Given the description of an element on the screen output the (x, y) to click on. 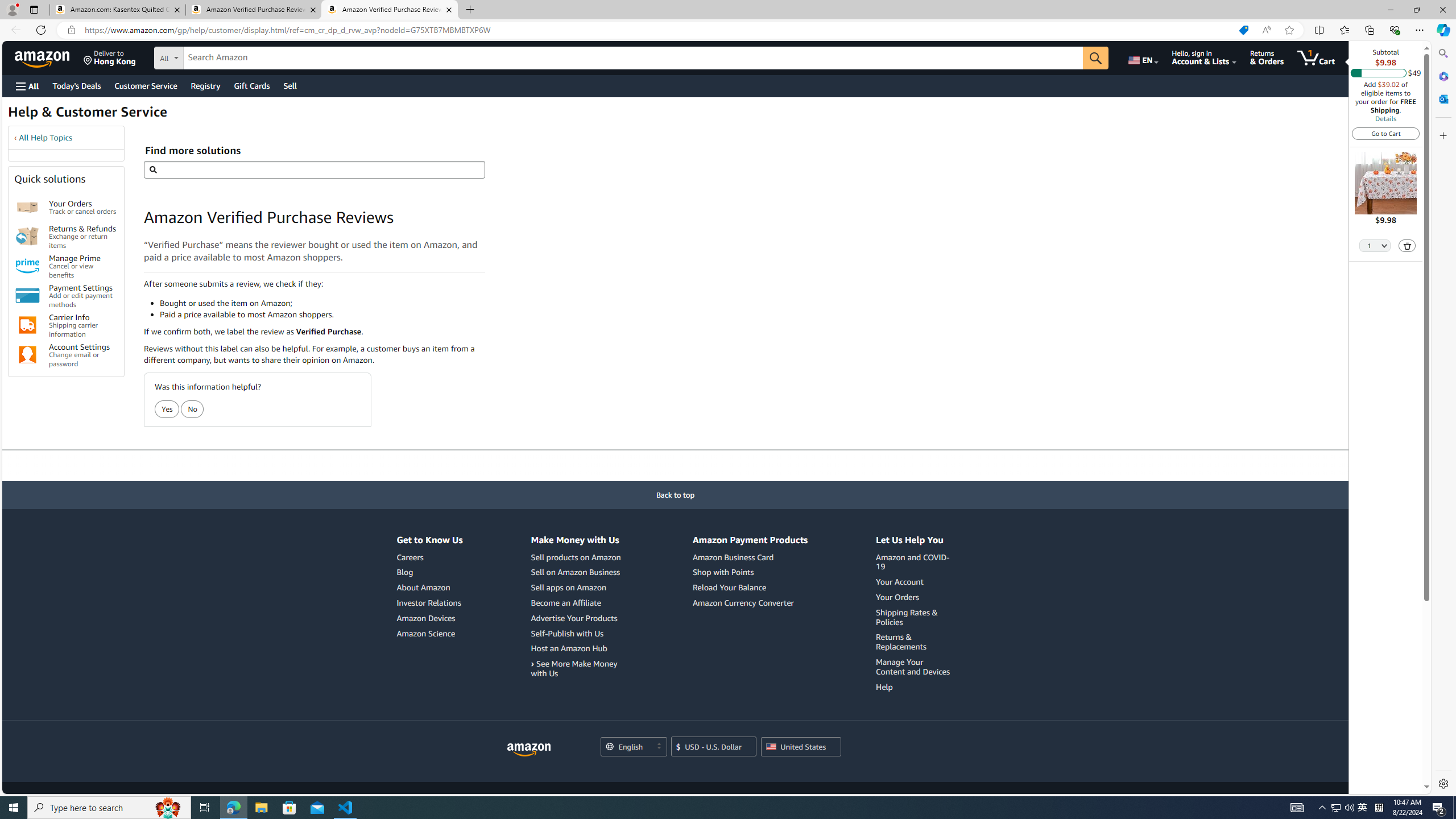
Shipping Rates & Policies (914, 617)
Go (1096, 57)
Payment Settings Add or edit payment methods (82, 295)
Amazon Devices (425, 617)
Favorites (1344, 29)
Settings and more (Alt+F) (1419, 29)
Payment Settings (27, 295)
Payment Settings (27, 295)
Copilot (Ctrl+Shift+.) (1442, 29)
Registry (205, 85)
Hello, sign in Account & Lists (1203, 57)
Account Settings (27, 354)
Paid a price available to most Amazon shoppers. (322, 313)
Amazon Science (425, 633)
Customize (1442, 135)
